Given the description of an element on the screen output the (x, y) to click on. 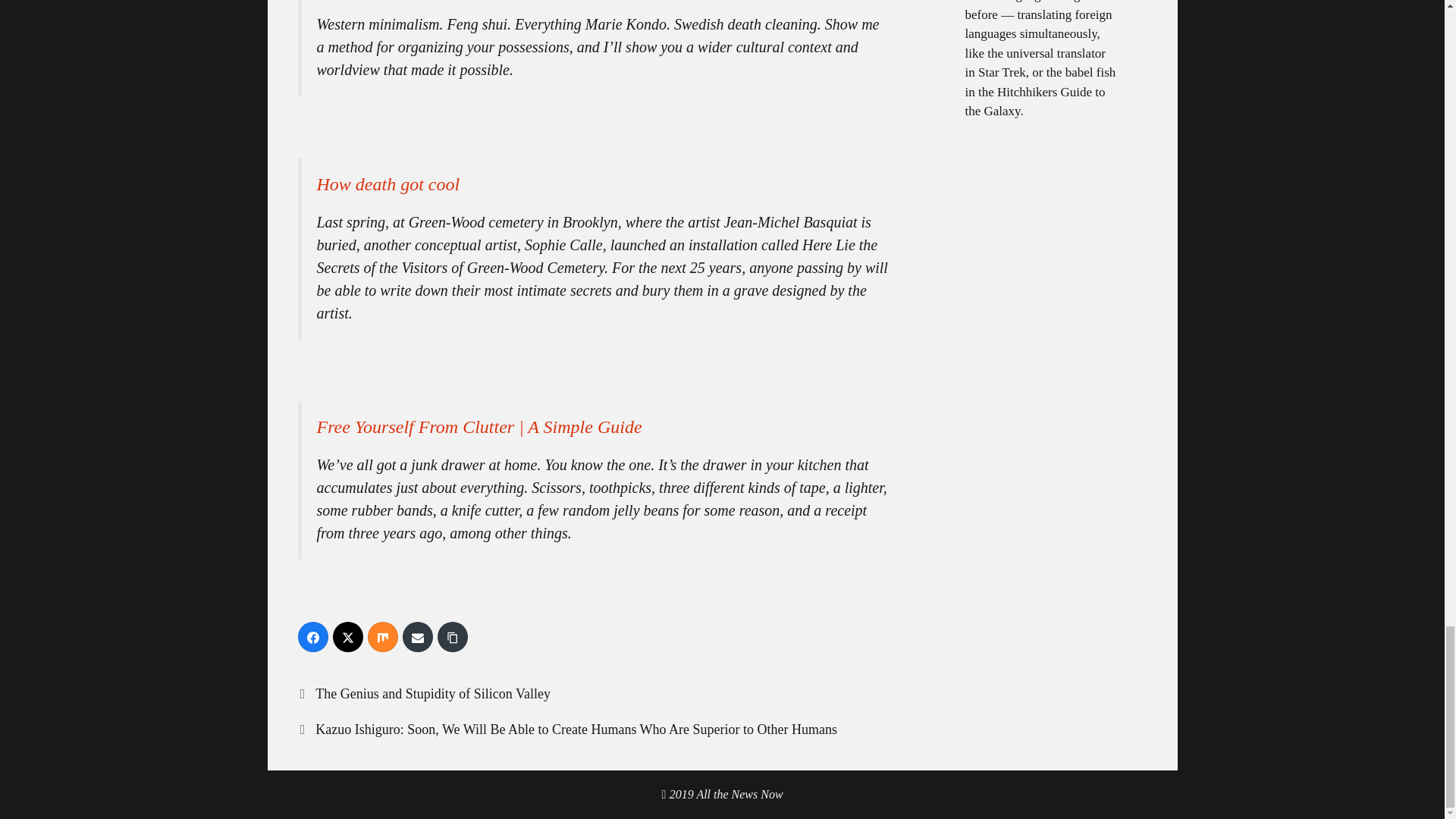
The Genius and Stupidity of Silicon Valley (432, 693)
How death got cool (388, 184)
